Given the description of an element on the screen output the (x, y) to click on. 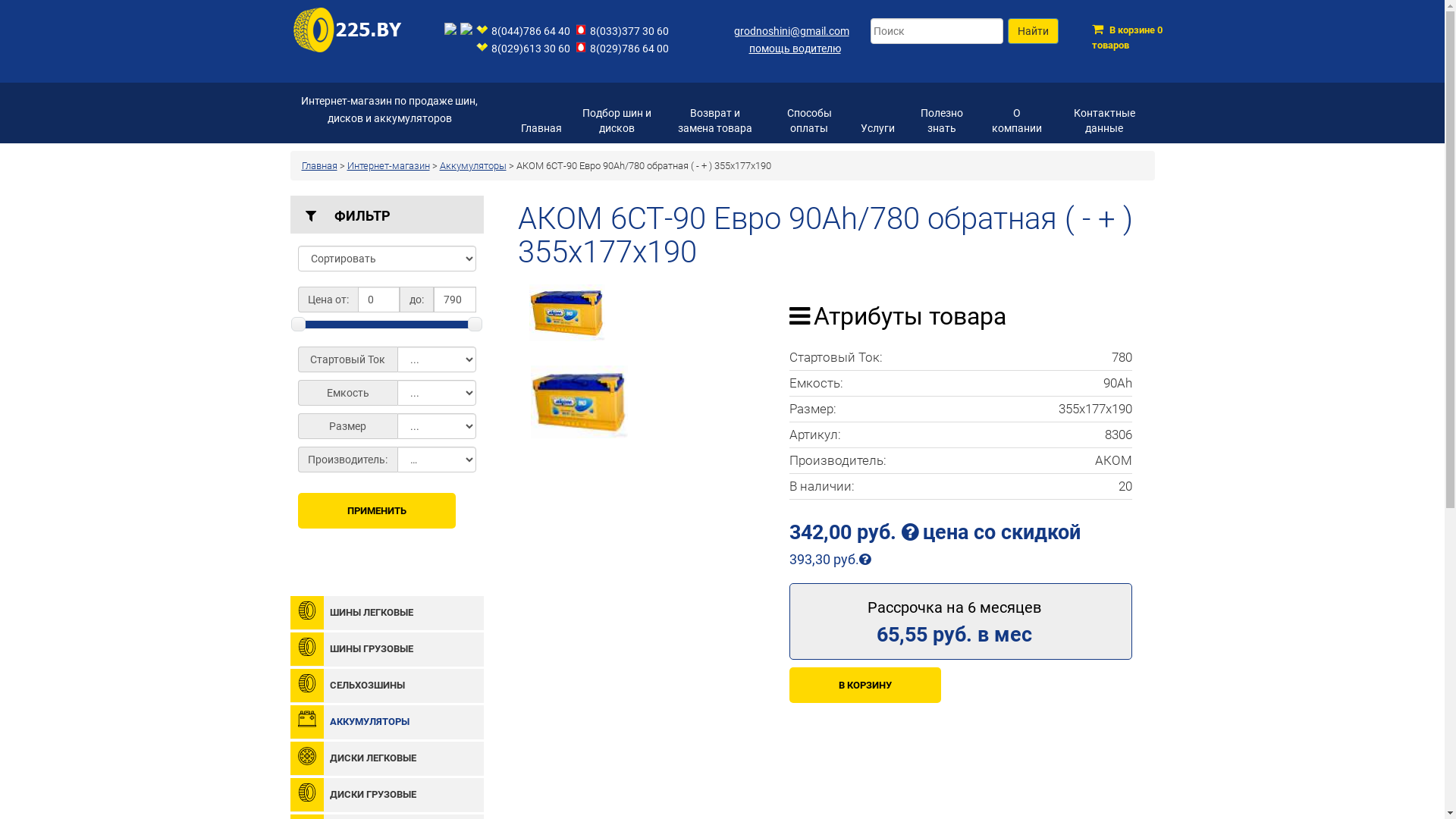
grodnoshini@gmail.com Element type: text (791, 31)
